Given the description of an element on the screen output the (x, y) to click on. 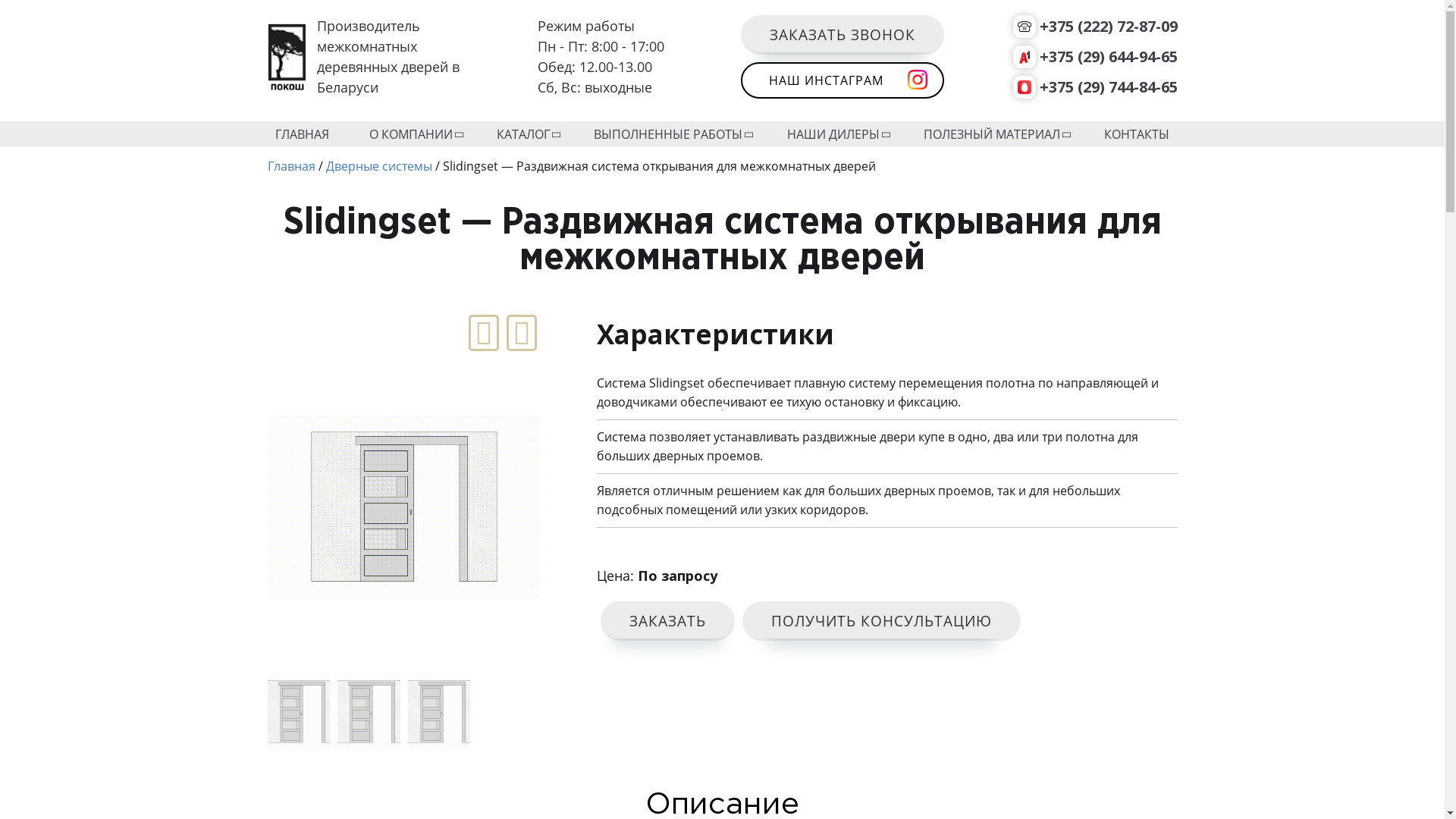
+375 (29) 744-84-65 Element type: text (1095, 86)
+375 (222) 72-87-09 Element type: text (1095, 26)
+375 (29) 644-94-65 Element type: text (1095, 56)
